Given the description of an element on the screen output the (x, y) to click on. 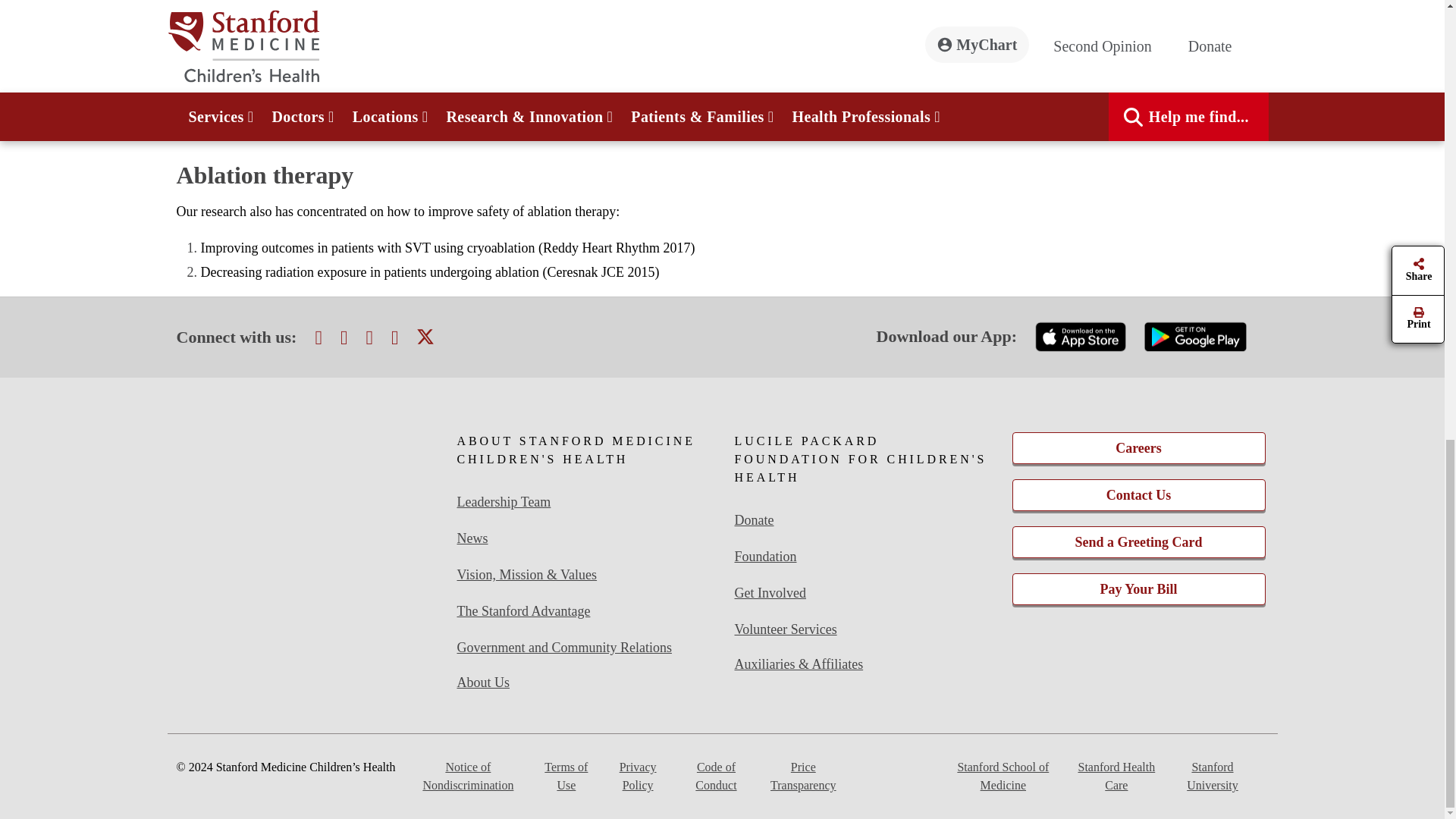
U.S. News Best Hospital (305, 565)
Magnet (305, 469)
